Given the description of an element on the screen output the (x, y) to click on. 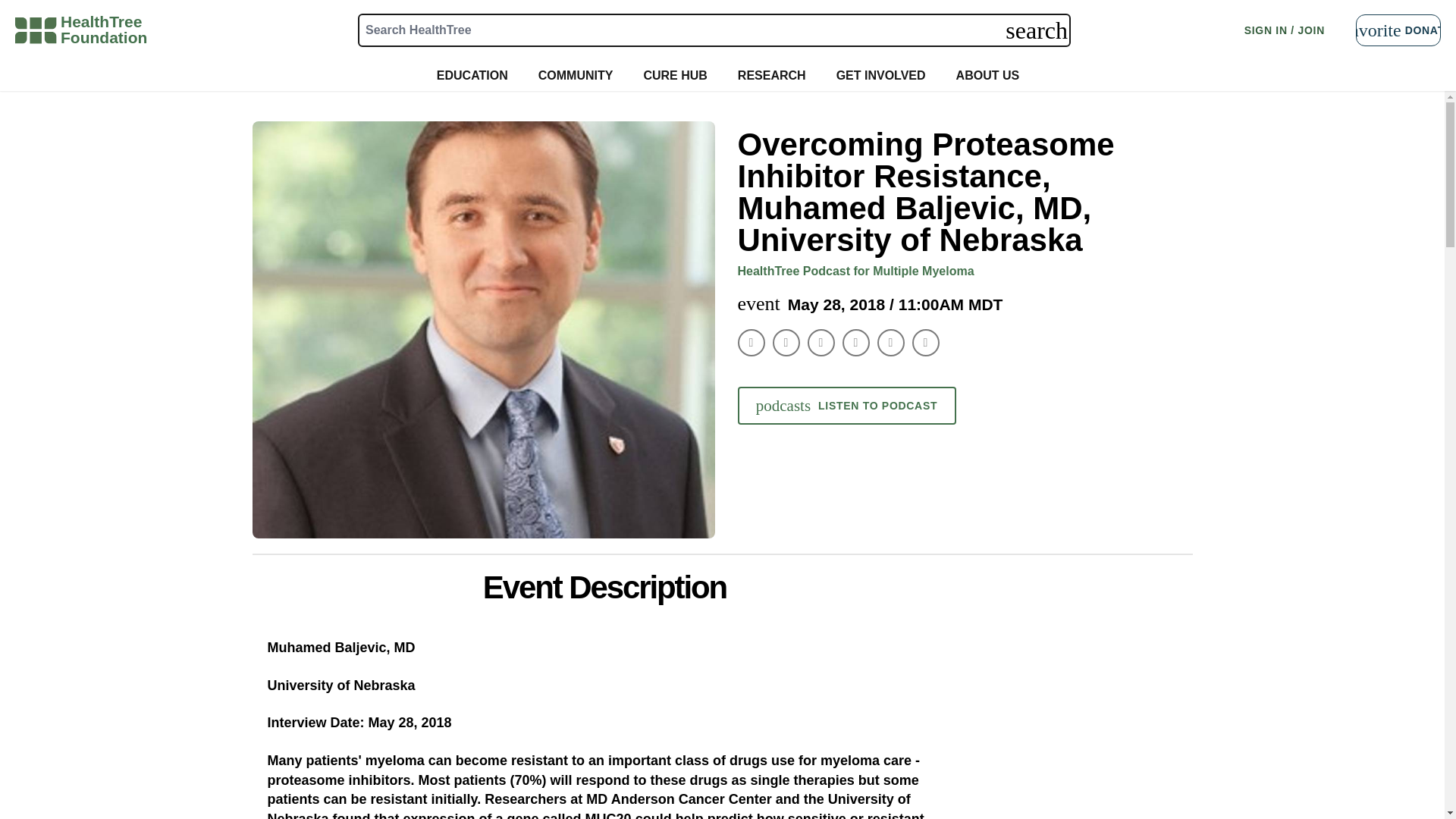
ad (1070, 665)
